Given the description of an element on the screen output the (x, y) to click on. 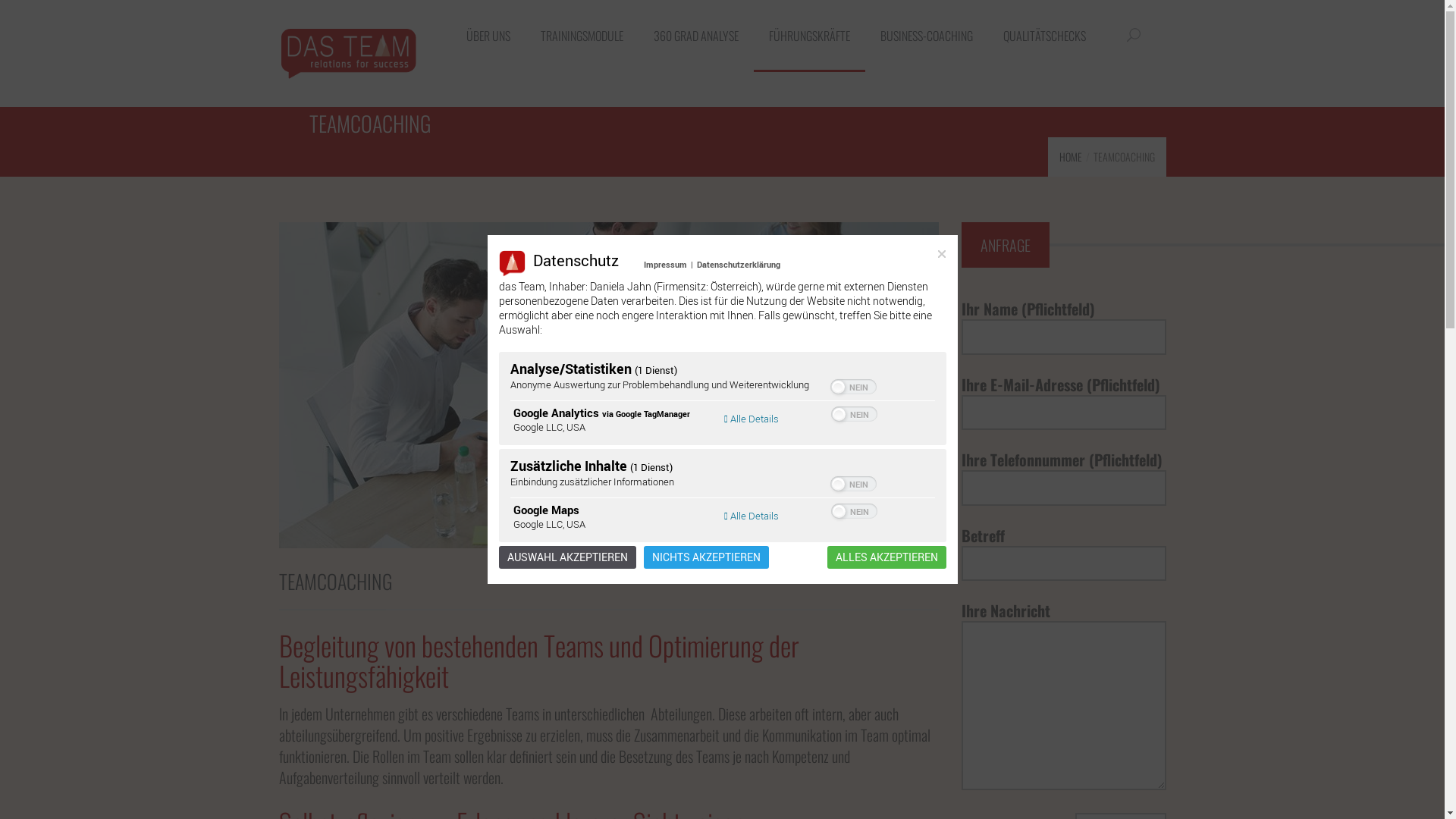
NICHTS AKZEPTIEREN Element type: text (705, 557)
BUSINESS-COACHING Element type: text (925, 36)
HOME Element type: text (1069, 156)
Impressum Element type: text (665, 263)
TRAININGSMODULE Element type: text (580, 36)
ALLES AKZEPTIEREN Element type: text (885, 557)
AUSWAHL AKZEPTIEREN Element type: text (567, 557)
360 GRAD ANALYSE Element type: text (695, 36)
